Given the description of an element on the screen output the (x, y) to click on. 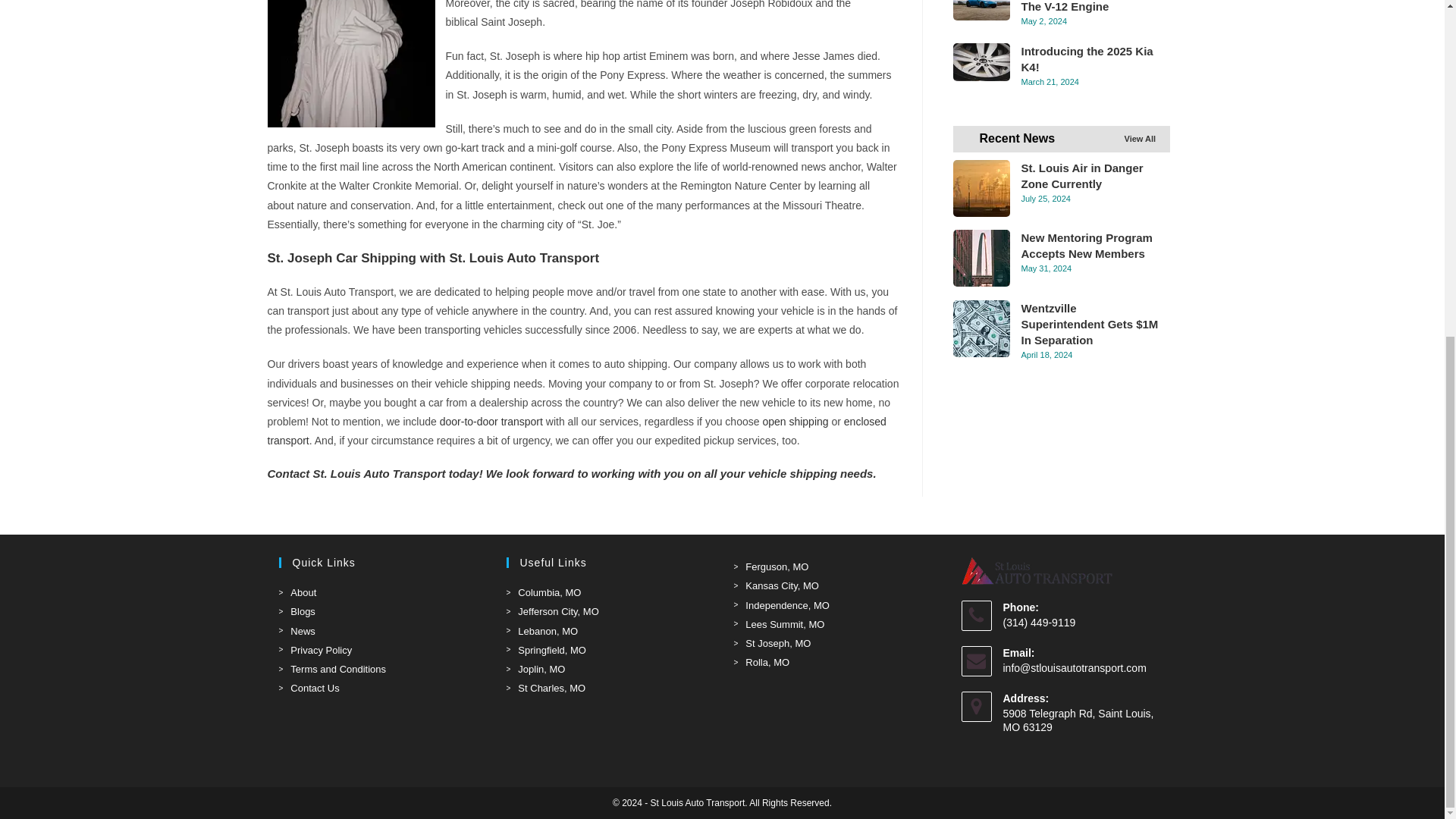
New Mentoring Program Accepts New Members (980, 258)
Introducing the 2025 Kia K4! (980, 62)
Aston Martin Redesigns The V-12 Engine (980, 10)
St. Louis Air in Danger Zone Currently (980, 188)
